Given the description of an element on the screen output the (x, y) to click on. 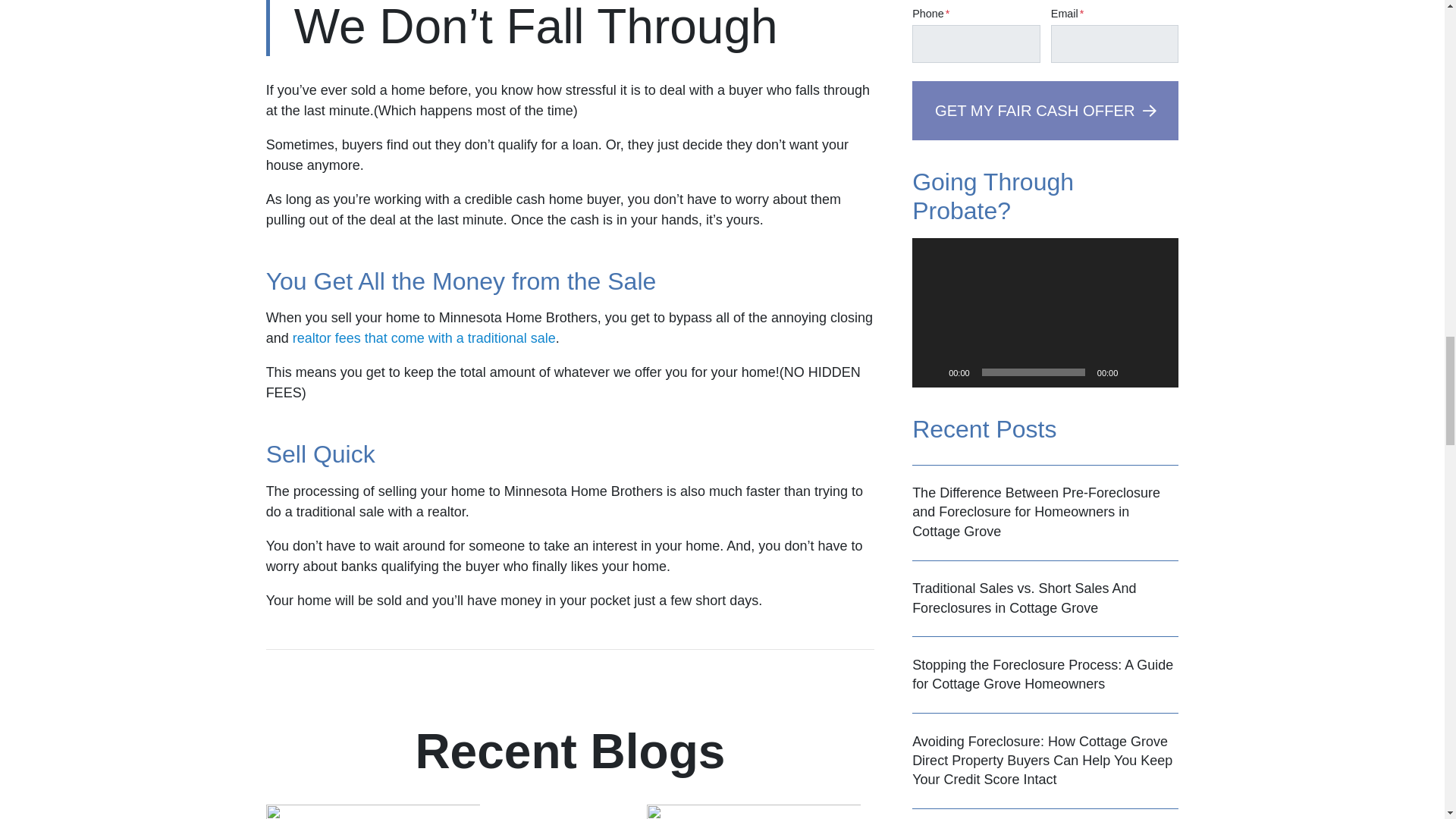
Fullscreen (1158, 372)
realtor fees that come with a traditional sale (424, 337)
Mute (1133, 372)
GET MY FAIR CASH OFFER (1044, 110)
Play (931, 372)
